Given the description of an element on the screen output the (x, y) to click on. 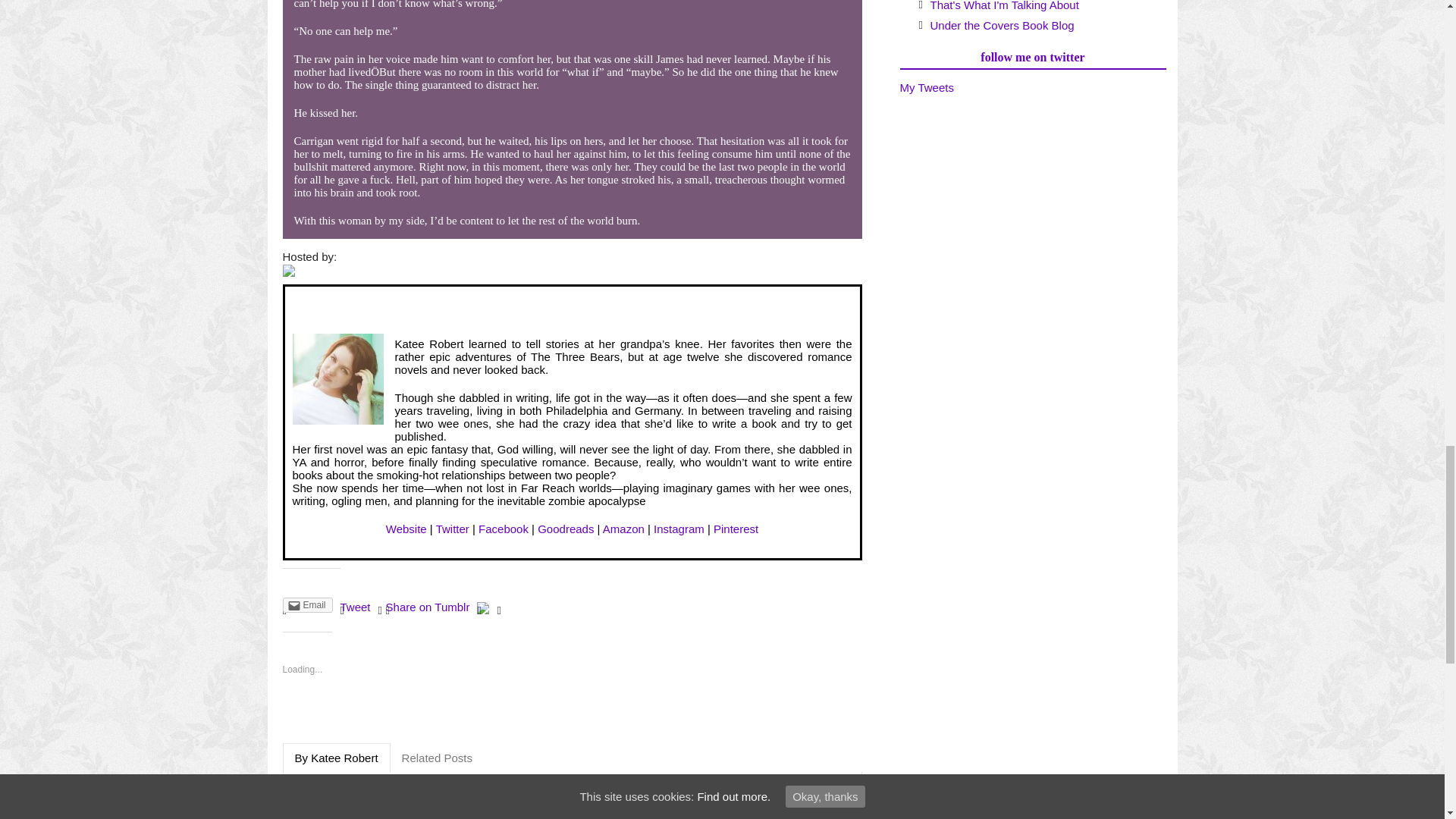
Twitter (451, 528)
Goodreads (565, 528)
Amazon (623, 528)
Website (405, 528)
Tweet (355, 606)
Share on Tumblr (427, 606)
Instagram (678, 528)
Click to email this to a friend (306, 604)
Email (306, 604)
Facebook (503, 528)
Pinterest (735, 528)
